Given the description of an element on the screen output the (x, y) to click on. 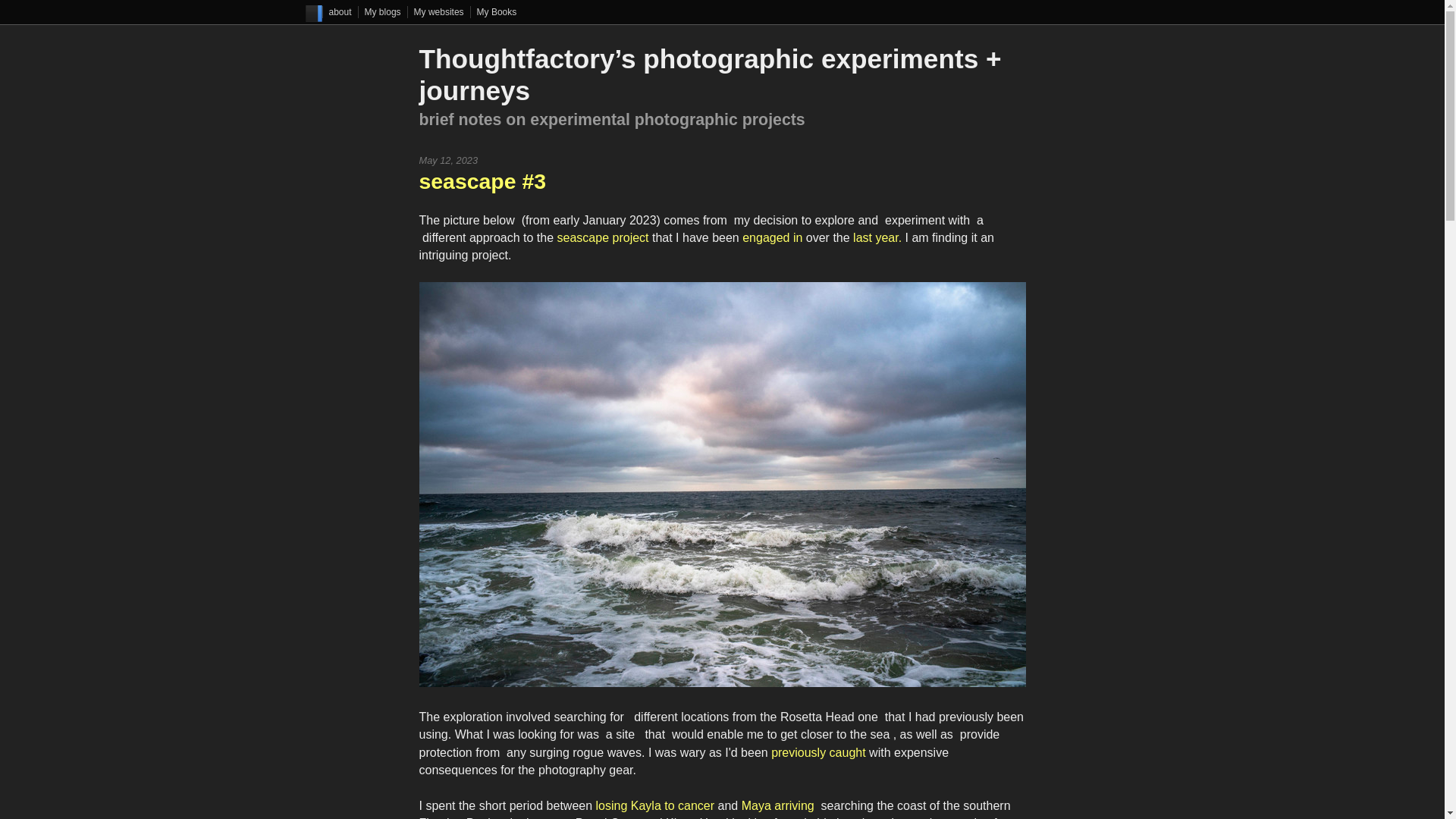
previously caught (818, 752)
last year. (877, 237)
My websites (438, 11)
May 12, 2023 (448, 160)
about (340, 11)
My Books (496, 11)
seascape project (603, 237)
engaged in (772, 237)
losing Kayla to cancer (653, 805)
Maya arriving (778, 805)
